Given the description of an element on the screen output the (x, y) to click on. 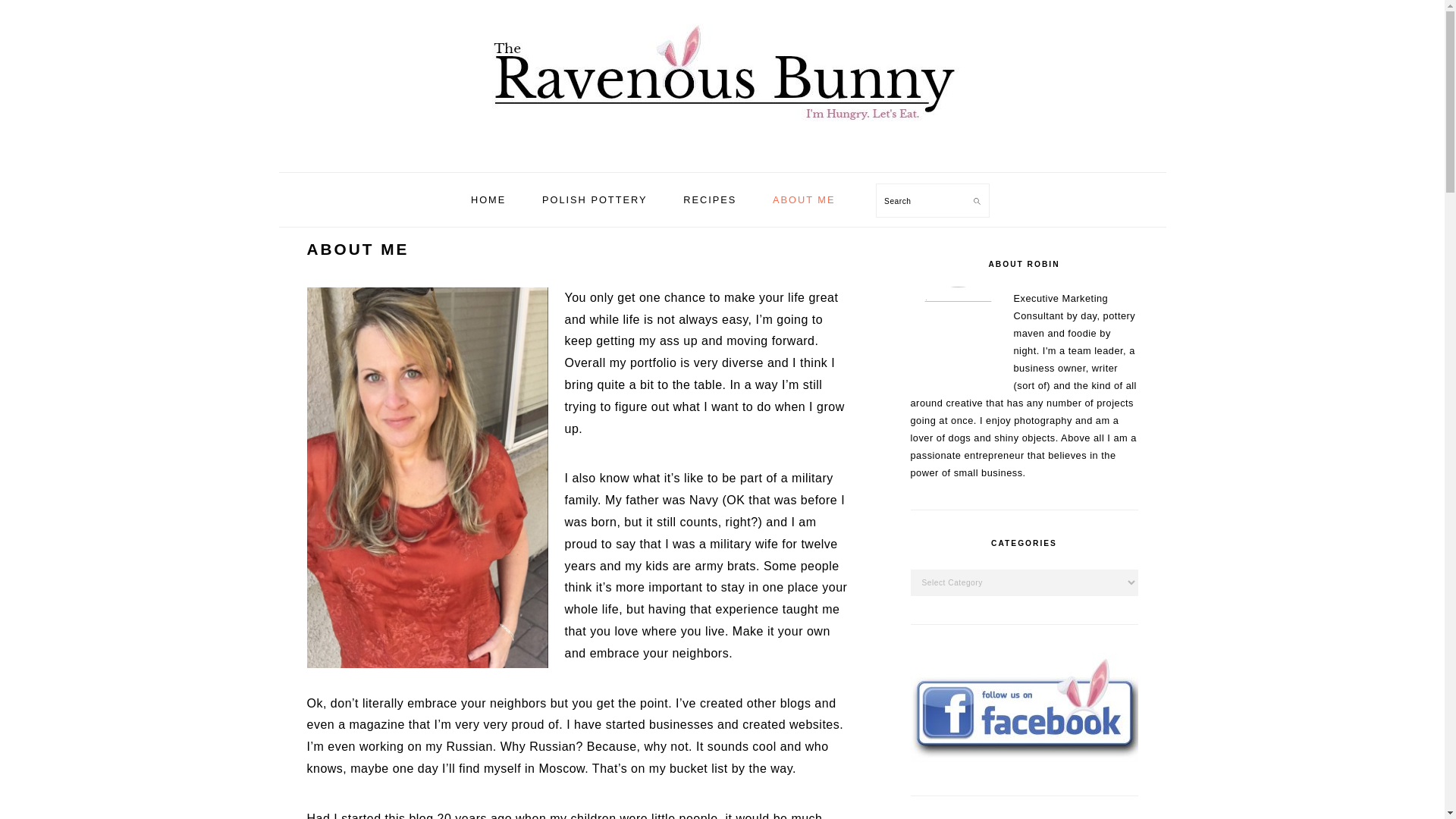
HOME (487, 199)
The Ravenous Bunny (721, 154)
The Ravenous Bunny (721, 75)
RECIPES (709, 199)
POLISH POTTERY (594, 199)
ABOUT ME (804, 199)
